Given the description of an element on the screen output the (x, y) to click on. 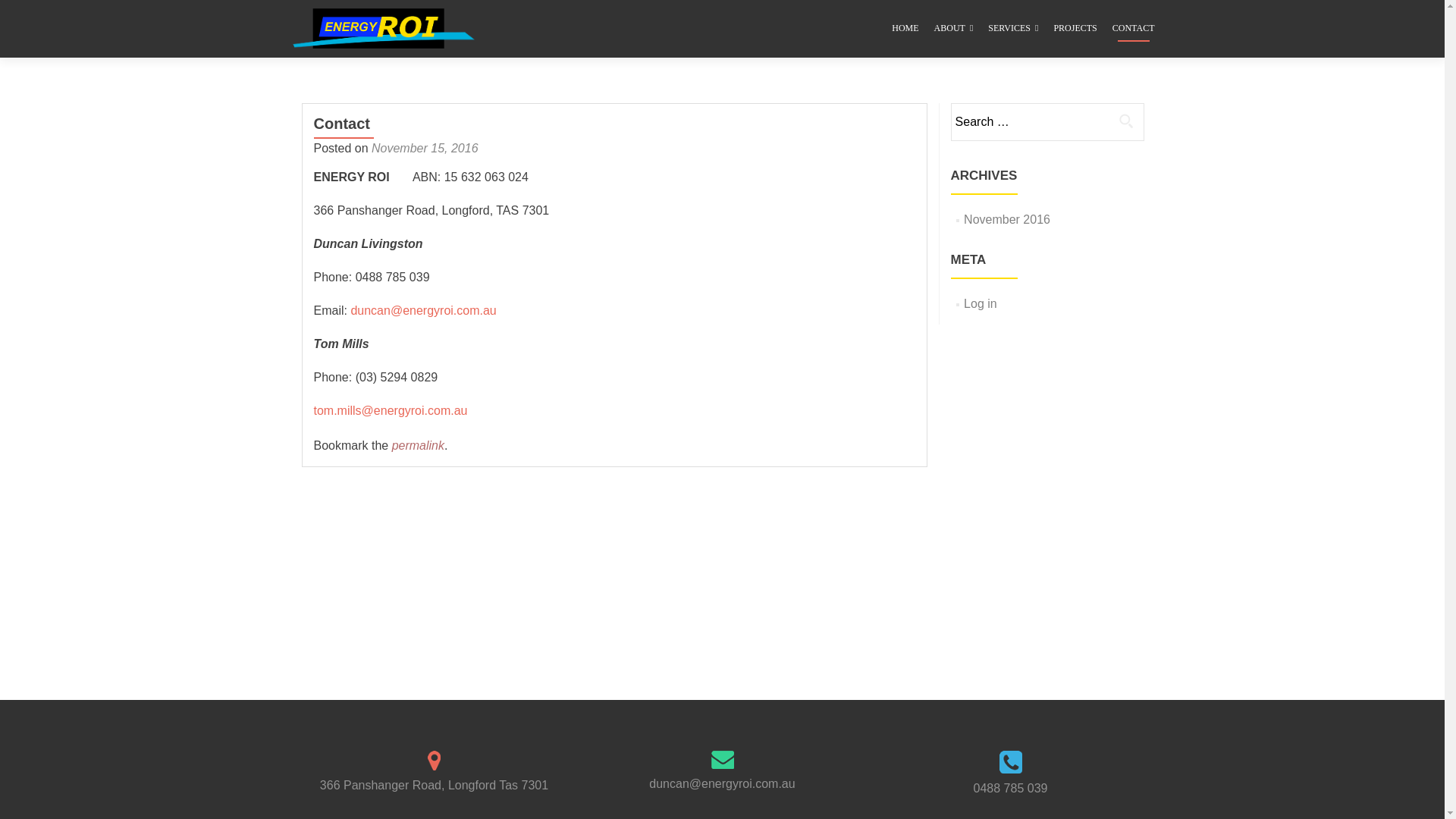
SERVICES Element type: text (1013, 28)
Search Element type: text (1125, 120)
HOME Element type: text (904, 28)
CONTACT Element type: text (1133, 28)
ABOUT Element type: text (953, 28)
November 15, 2016 Element type: text (424, 147)
Log in Element type: text (980, 303)
tom.mills@energyroi.com.au Element type: text (390, 410)
PROJECTS Element type: text (1074, 28)
November 2016 Element type: text (1006, 219)
permalink Element type: text (418, 445)
duncan@energyroi.com.au Element type: text (422, 310)
